Given the description of an element on the screen output the (x, y) to click on. 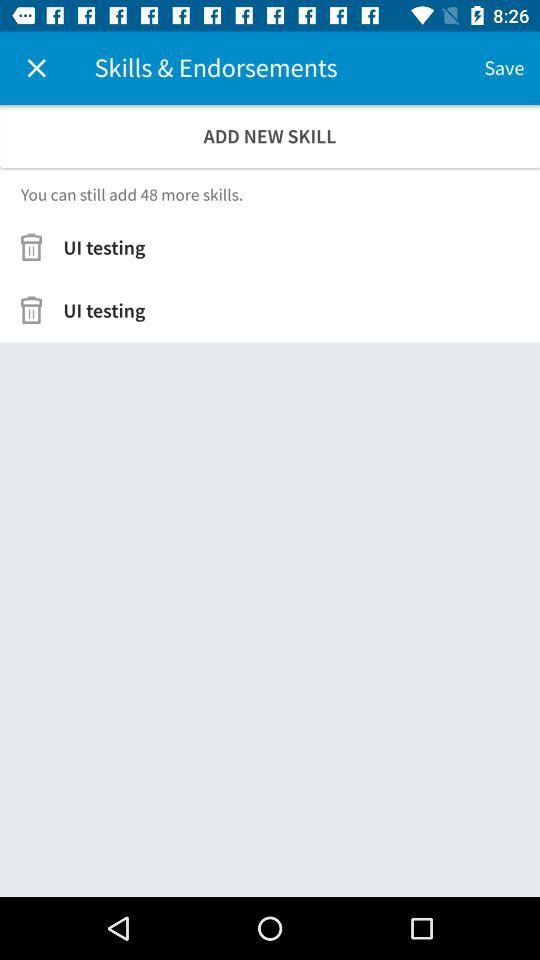
turn on icon next to the skills & endorsements item (36, 68)
